Given the description of an element on the screen output the (x, y) to click on. 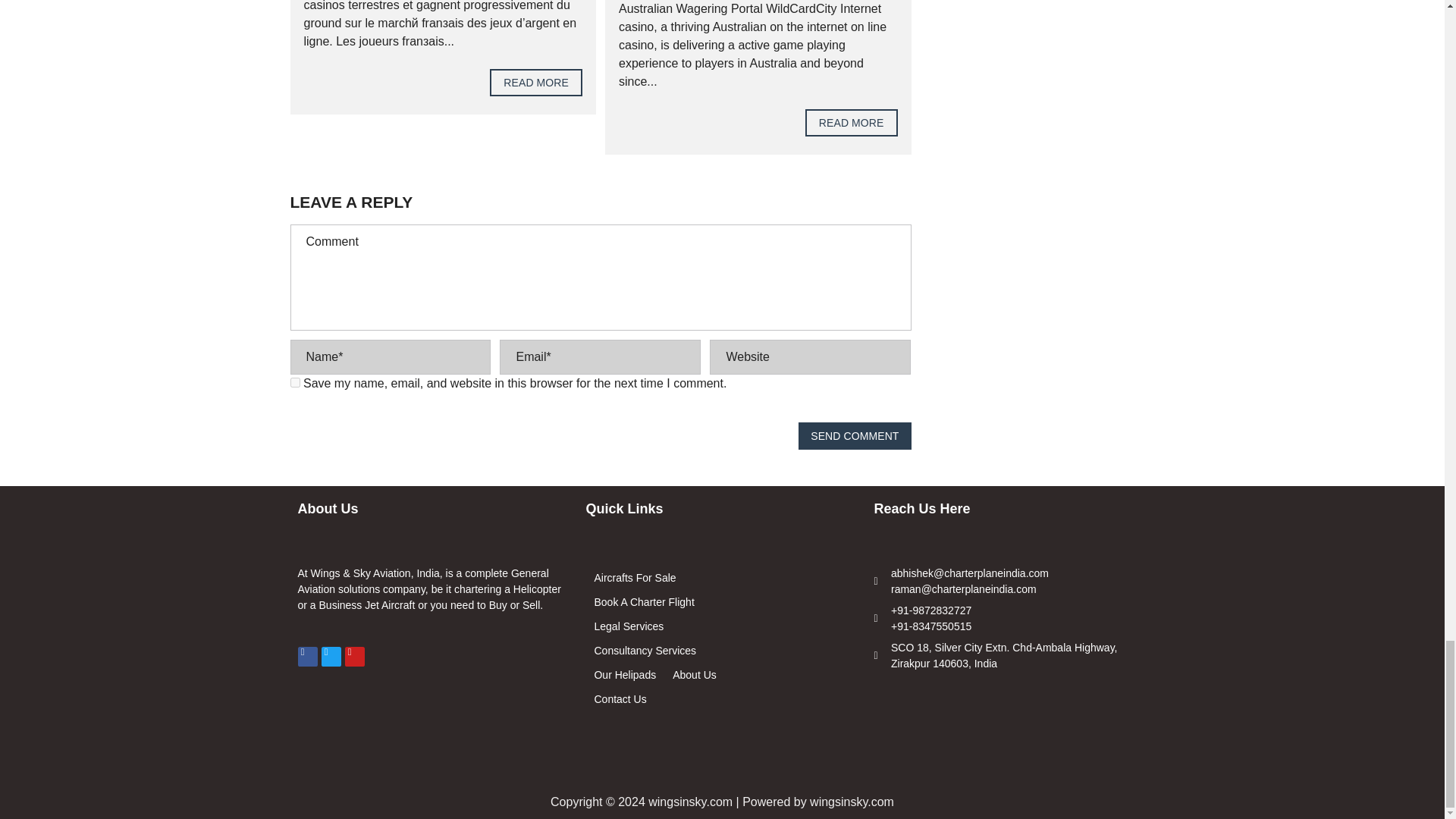
READ MORE (535, 82)
READ MORE (851, 122)
SEND COMMENT (854, 435)
yes (294, 382)
